Given the description of an element on the screen output the (x, y) to click on. 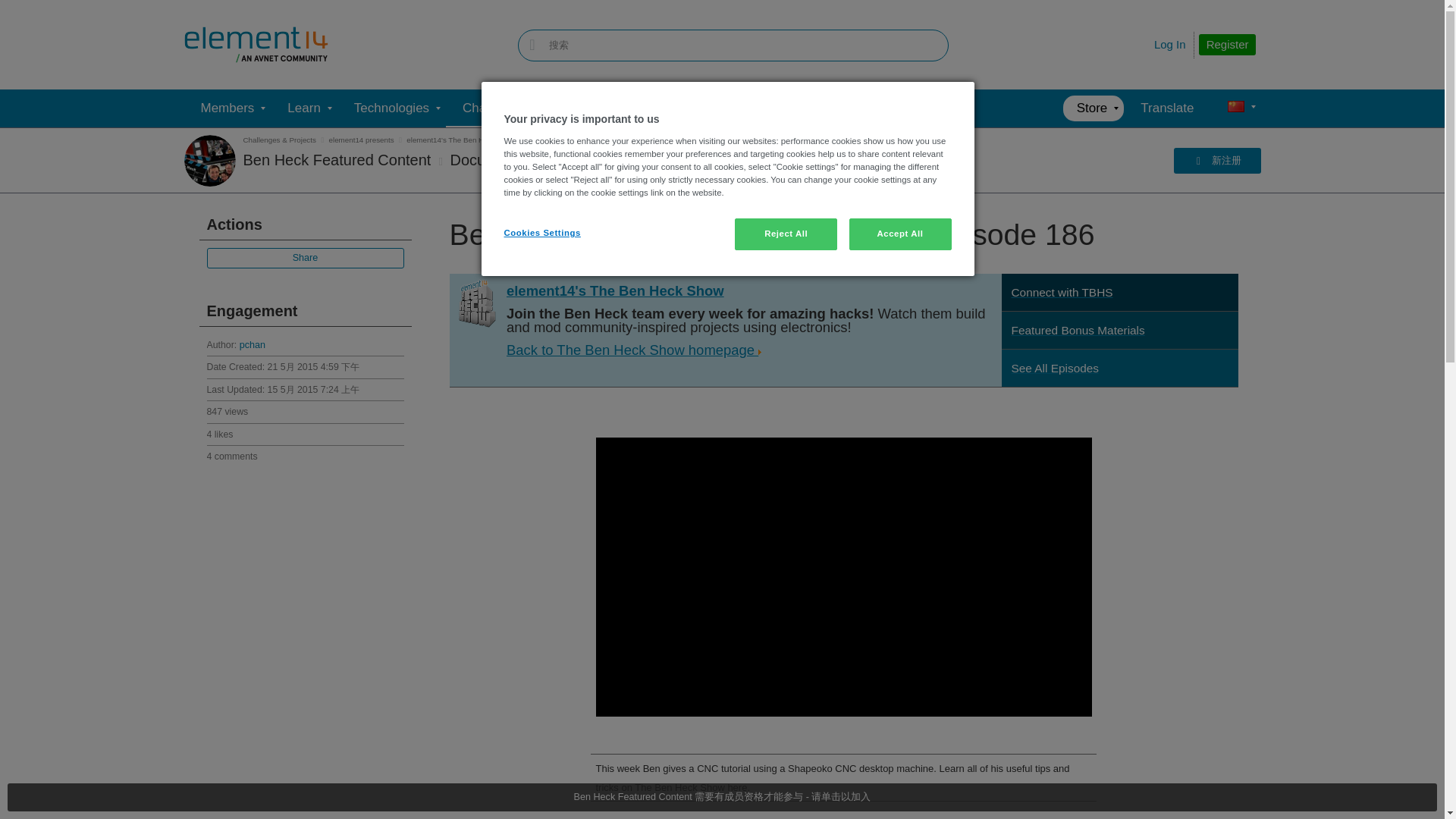
Members (226, 108)
Learn (303, 108)
Technologies (391, 108)
Register (1226, 44)
Log In (1170, 44)
Register (1226, 44)
Log In (1170, 44)
